Given the description of an element on the screen output the (x, y) to click on. 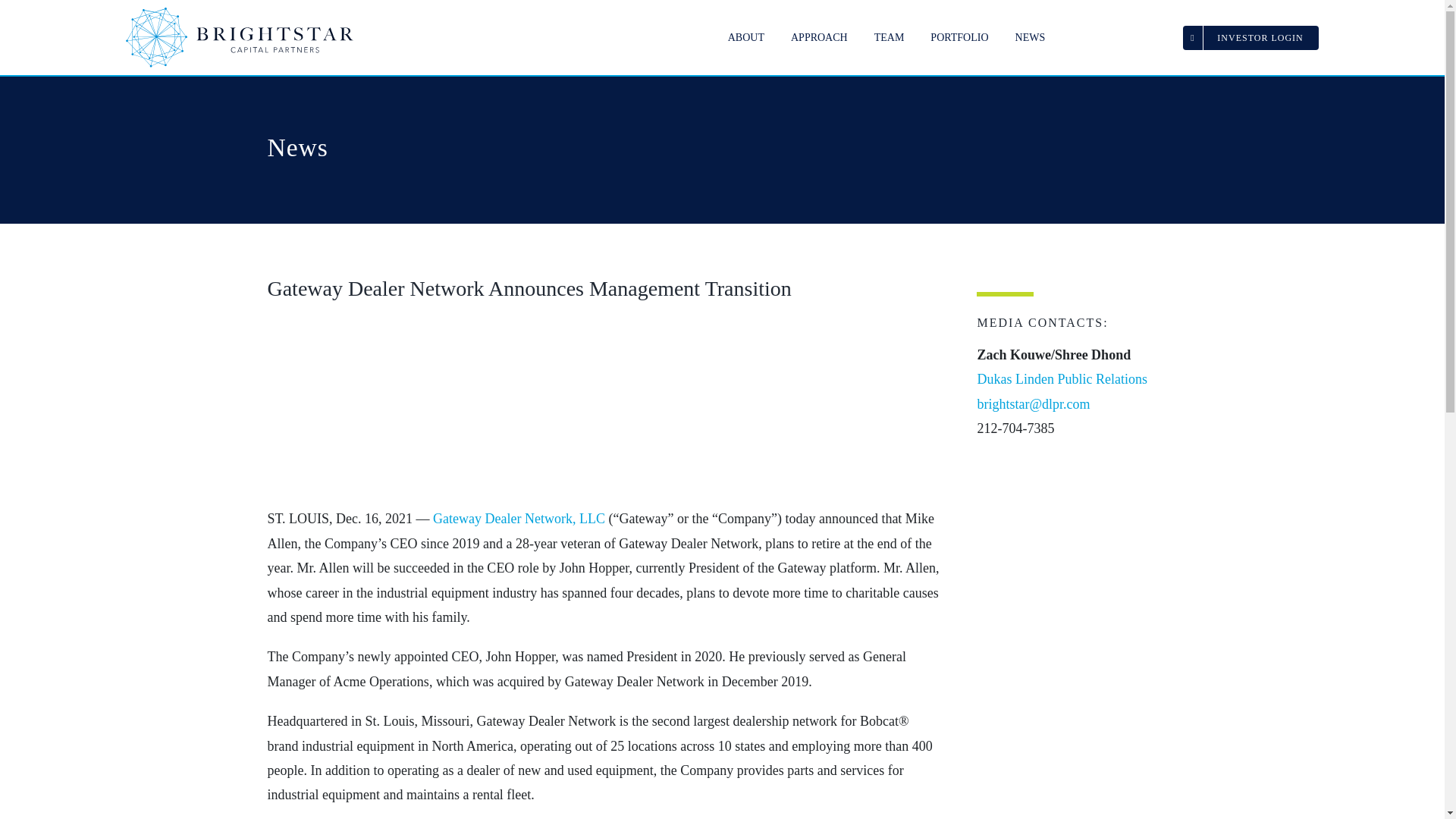
TEAM (889, 36)
PORTFOLIO (959, 36)
INVESTOR LOGIN (1249, 37)
ABOUT (746, 36)
NEWS (1029, 36)
APPROACH (818, 36)
Gateway Dealer Network, LLC (518, 518)
Dukas Linden Public Relations (1061, 378)
